Given the description of an element on the screen output the (x, y) to click on. 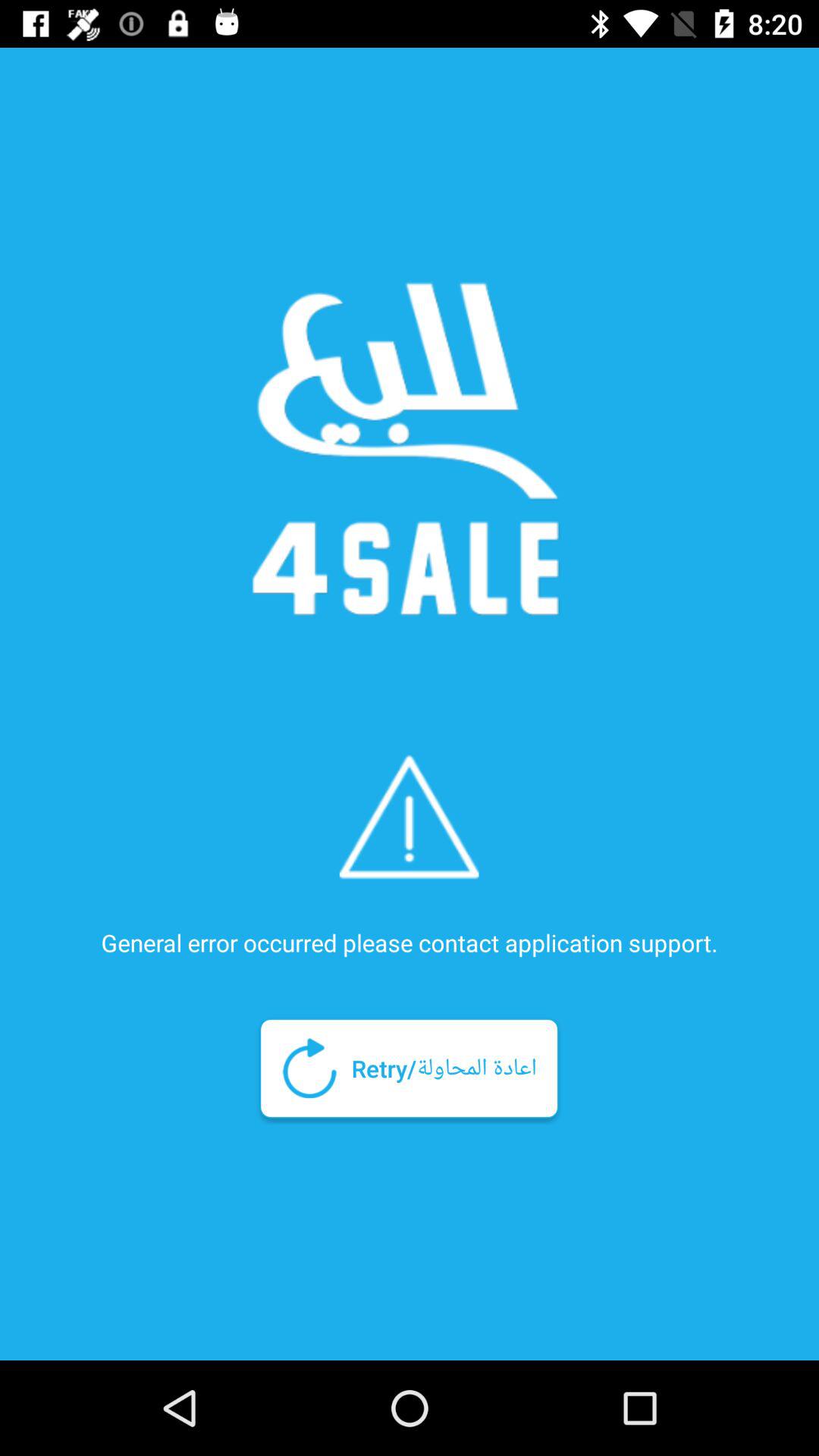
press item below general error occurred item (408, 1068)
